Given the description of an element on the screen output the (x, y) to click on. 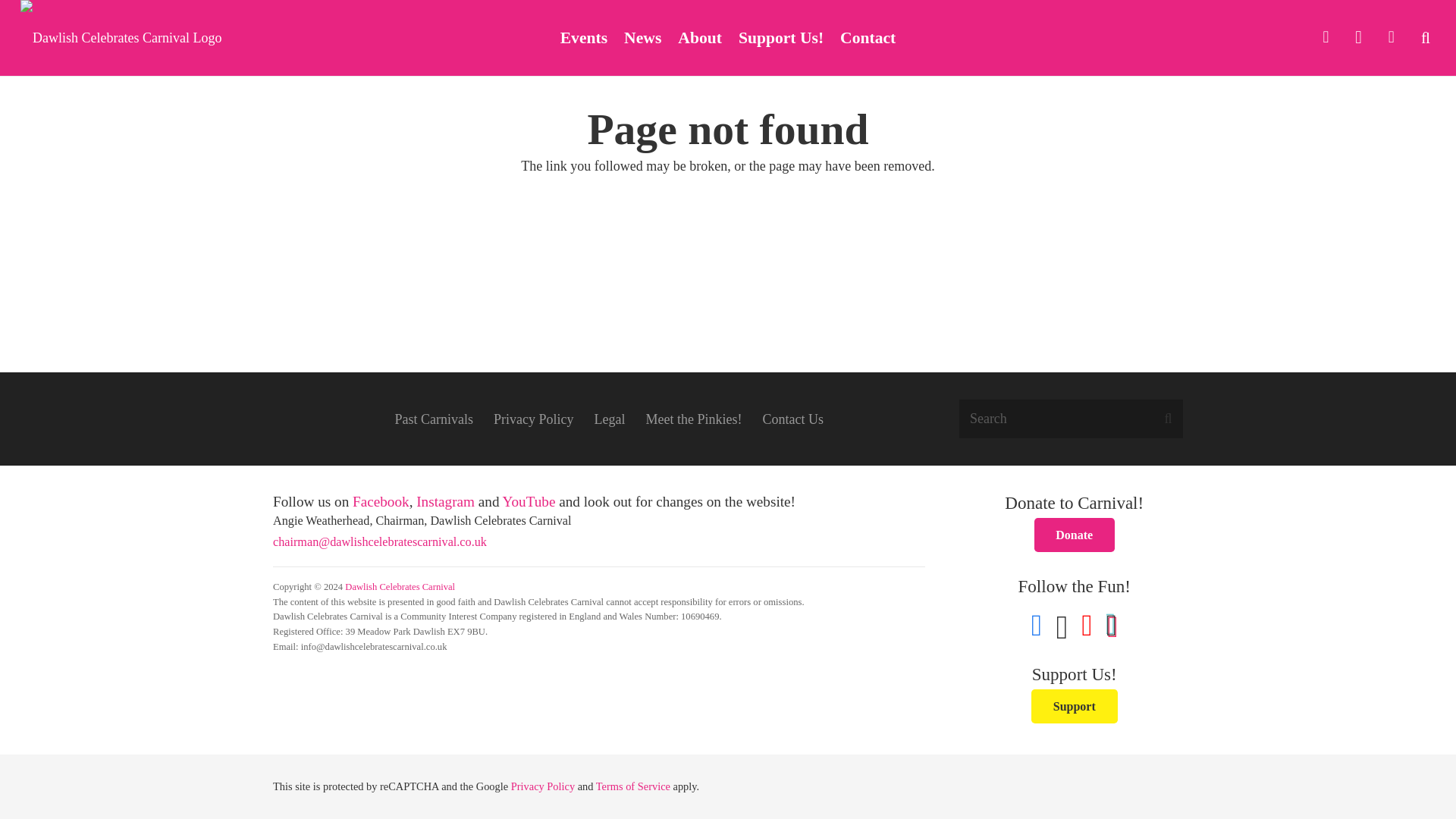
Donate to Carnival! (1074, 534)
YouTube (1390, 37)
Dawlish Celebrates Carnival (399, 586)
Contact (867, 38)
Facebook (1325, 37)
Support Us! (780, 38)
Support Dawlish Carnival (1074, 706)
Instagram (1358, 37)
